Given the description of an element on the screen output the (x, y) to click on. 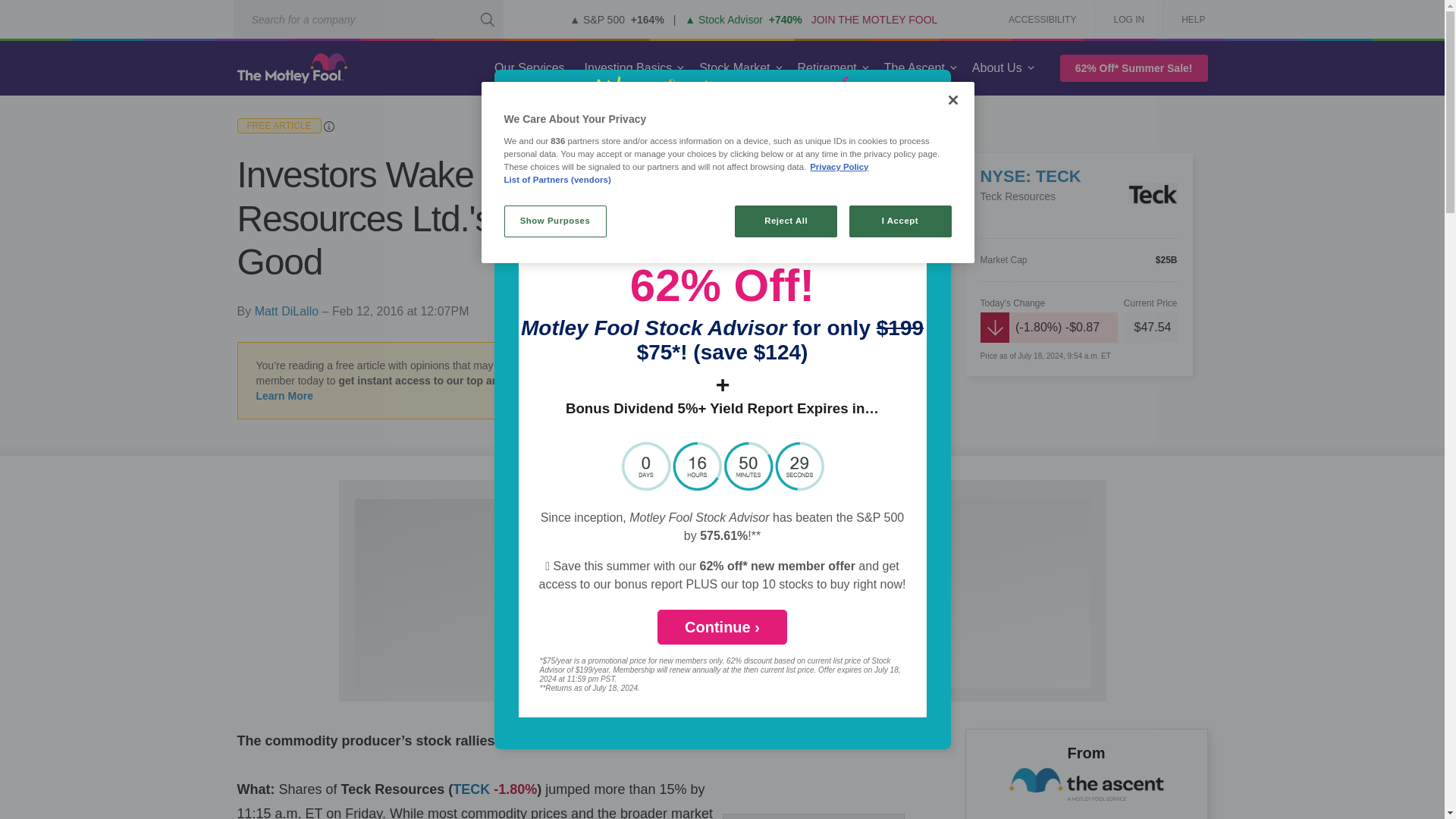
HELP (1187, 19)
Investing Basics (627, 67)
Our Services (528, 67)
ACCESSIBILITY (1042, 19)
LOG IN (1128, 19)
Stock Market (734, 67)
